Given the description of an element on the screen output the (x, y) to click on. 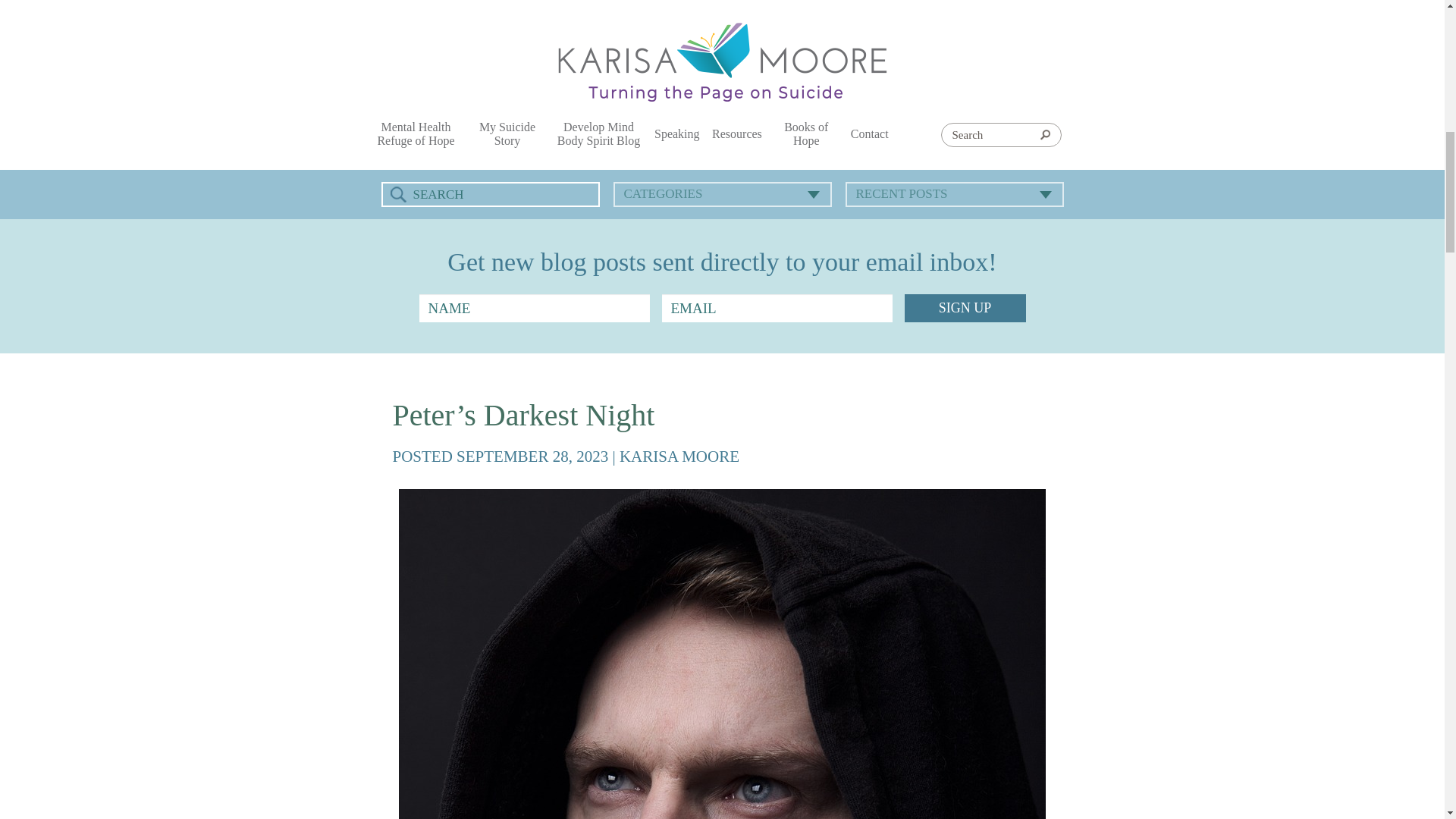
Mental Health Refuge of Hope (415, 134)
Speaking (676, 133)
Resources (737, 133)
SIGN UP (964, 308)
Books of Hope (806, 134)
Develop Mind Body Spirit Blog (597, 134)
Contact (869, 133)
My Suicide Story (506, 134)
